Given the description of an element on the screen output the (x, y) to click on. 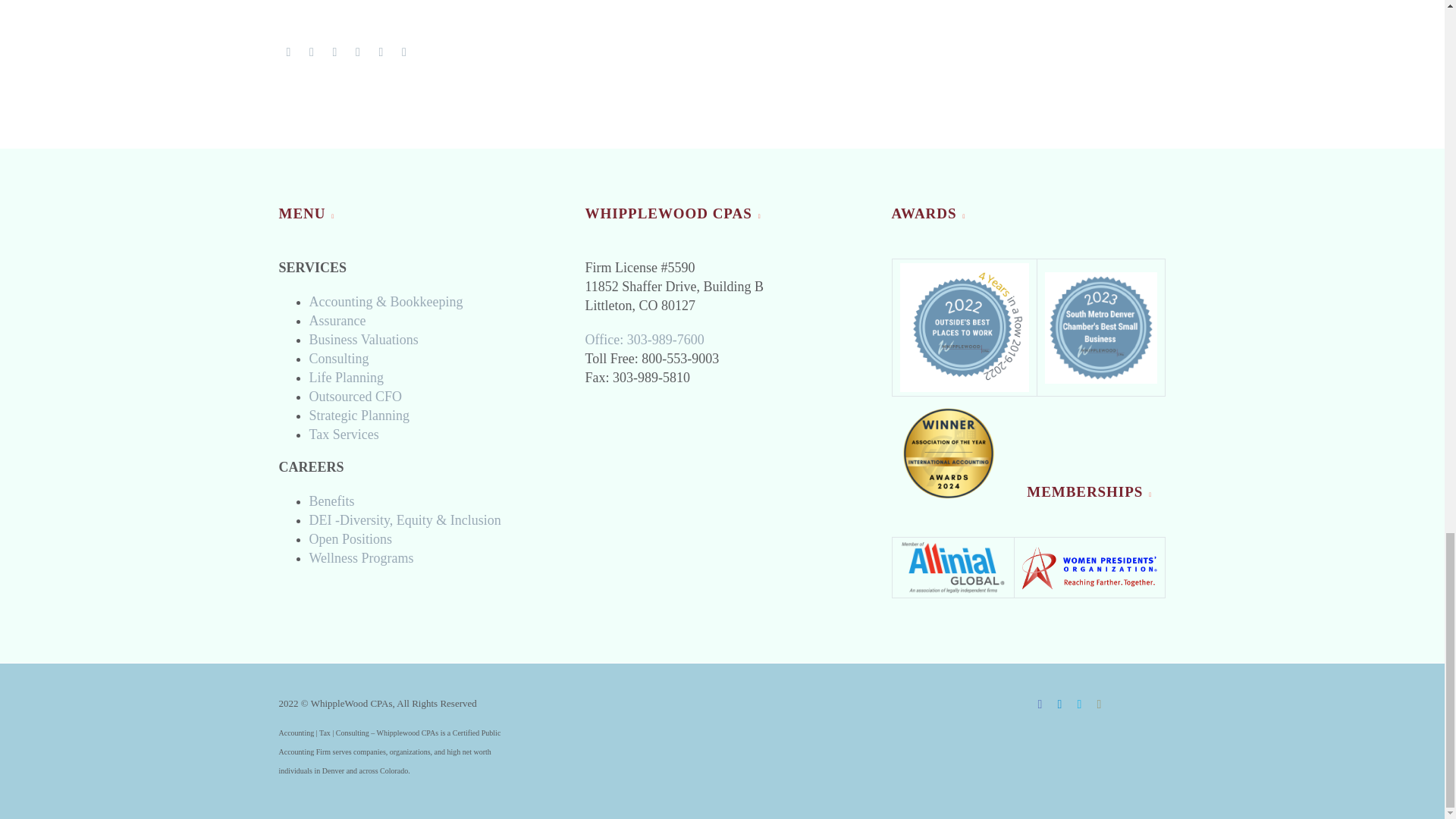
Pinterest (334, 51)
LinkedIn (380, 51)
Tumblr (358, 51)
Reddit (403, 51)
Facebook (288, 51)
Twitter (311, 51)
Facebook (1039, 704)
